Given the description of an element on the screen output the (x, y) to click on. 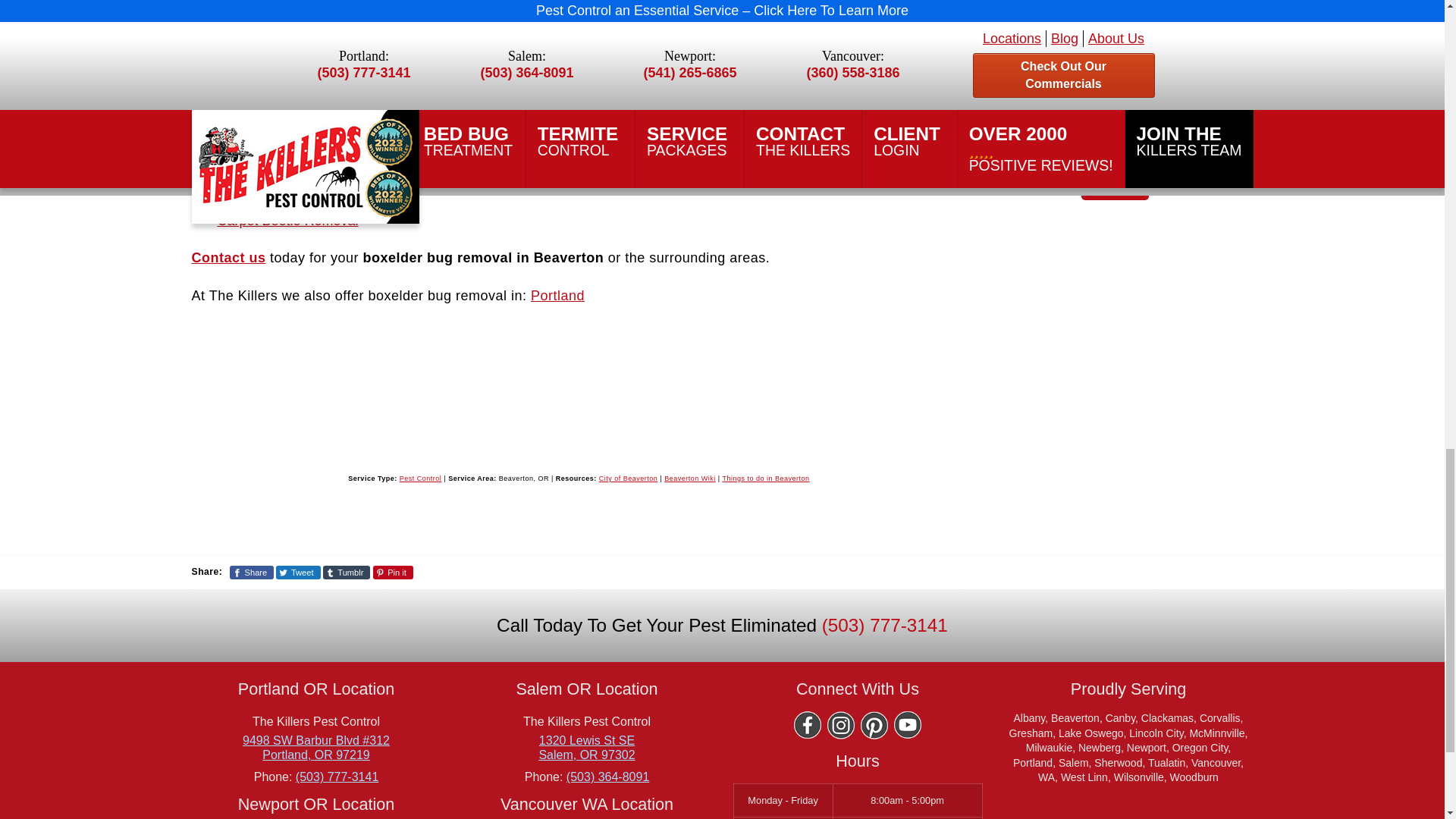
Pest Control (420, 478)
Tumblr (347, 572)
Share (251, 572)
Pinterest (874, 725)
Beaverton Wiki (689, 478)
Things to do in Beaverton (765, 478)
Facebook (807, 725)
Carpet Beetle Removal (287, 220)
Submit (1114, 179)
Opt-out (1069, 130)
Tweet (298, 572)
City of Beaverton (628, 478)
Ant Removal (255, 197)
Contact Us (227, 257)
Pin it (392, 572)
